Given the description of an element on the screen output the (x, y) to click on. 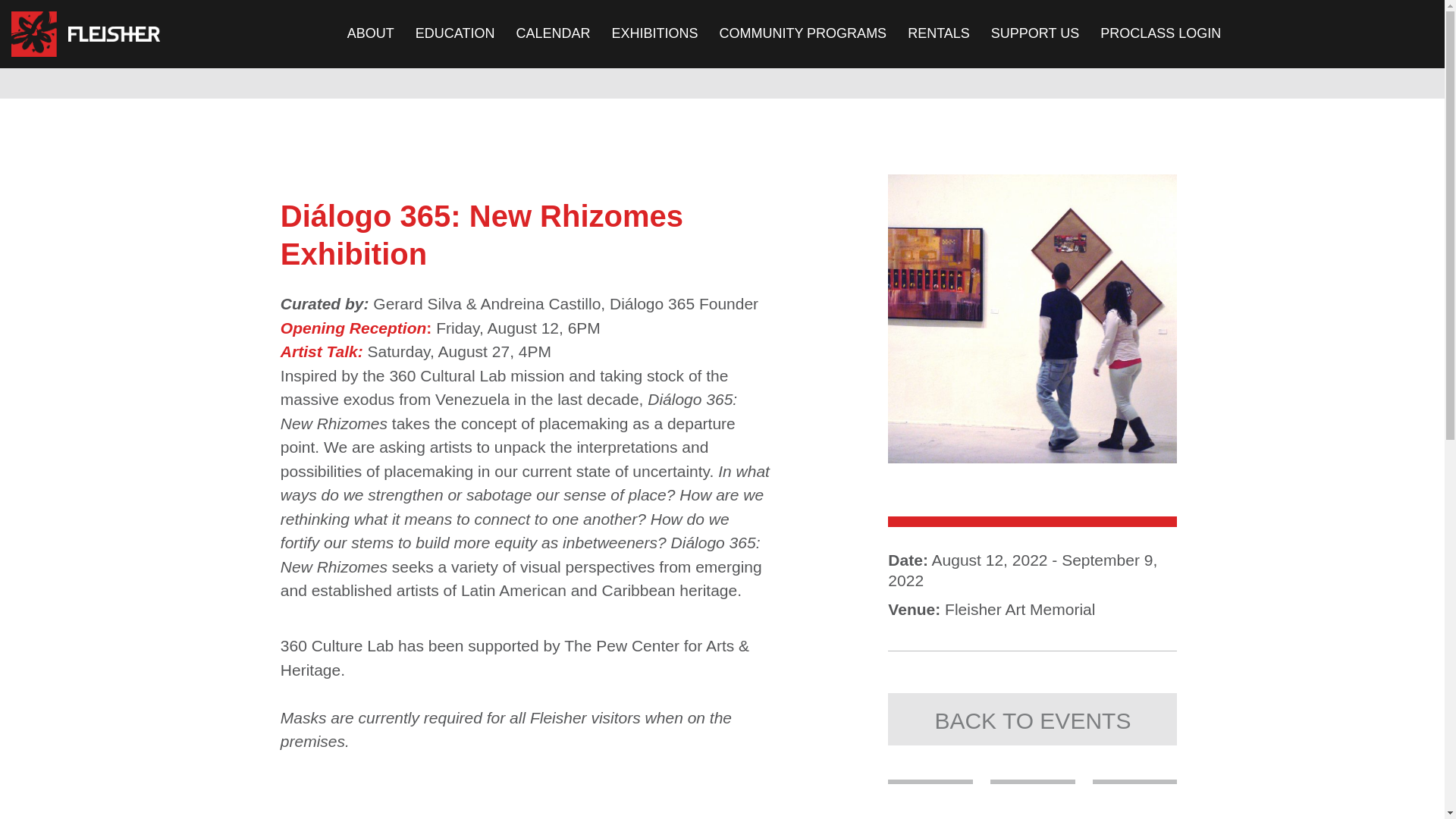
EDUCATION (454, 33)
CALENDAR (552, 33)
COMMUNITY PROGRAMS (802, 33)
EXHIBITIONS (654, 33)
SUPPORT US (1034, 33)
RENTALS (938, 33)
